Given the description of an element on the screen output the (x, y) to click on. 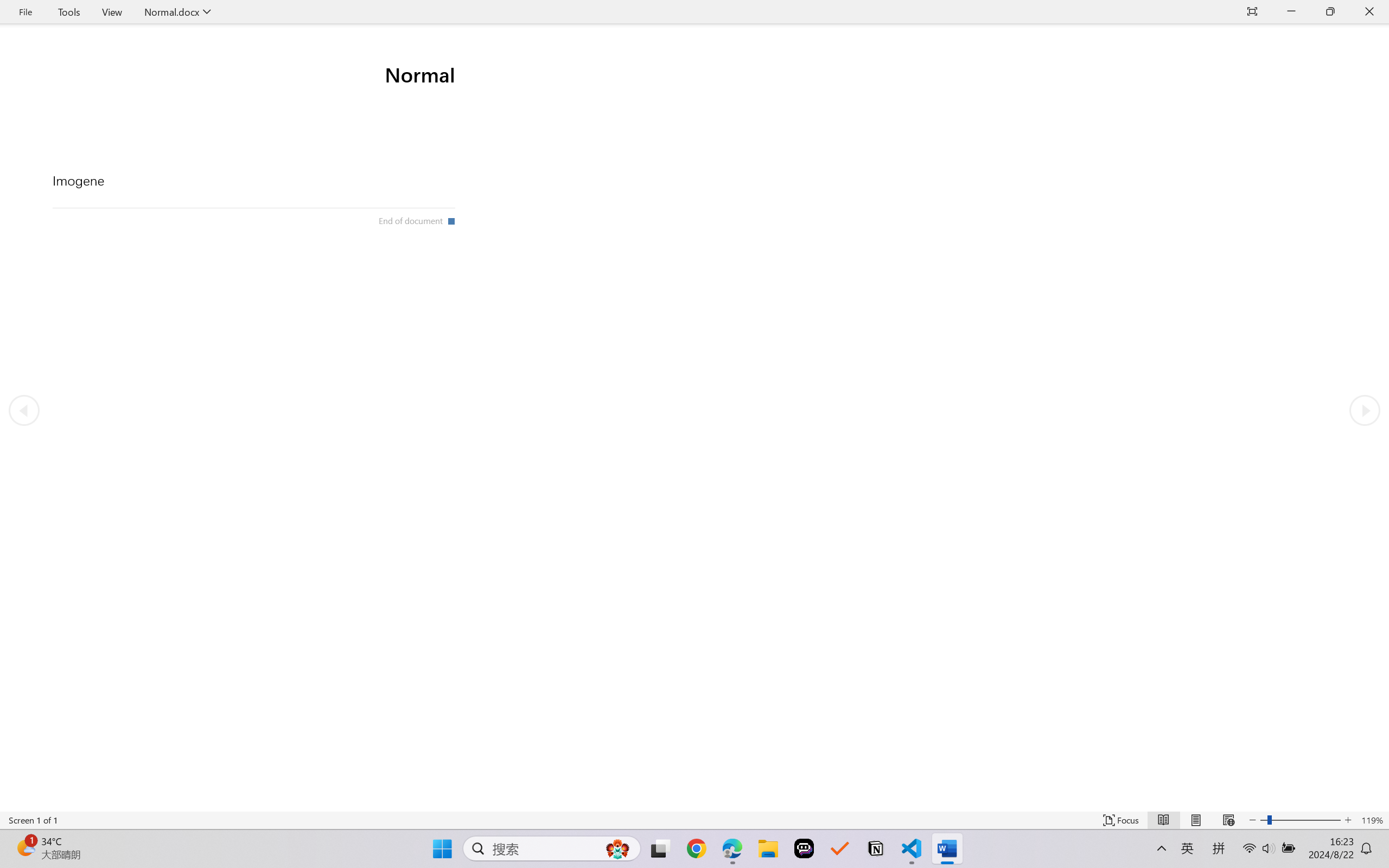
Increase Text Size (1348, 819)
Class: MsoCommandBar (694, 819)
Auto-hide Reading Toolbar (1252, 11)
Tools (69, 11)
